Given the description of an element on the screen output the (x, y) to click on. 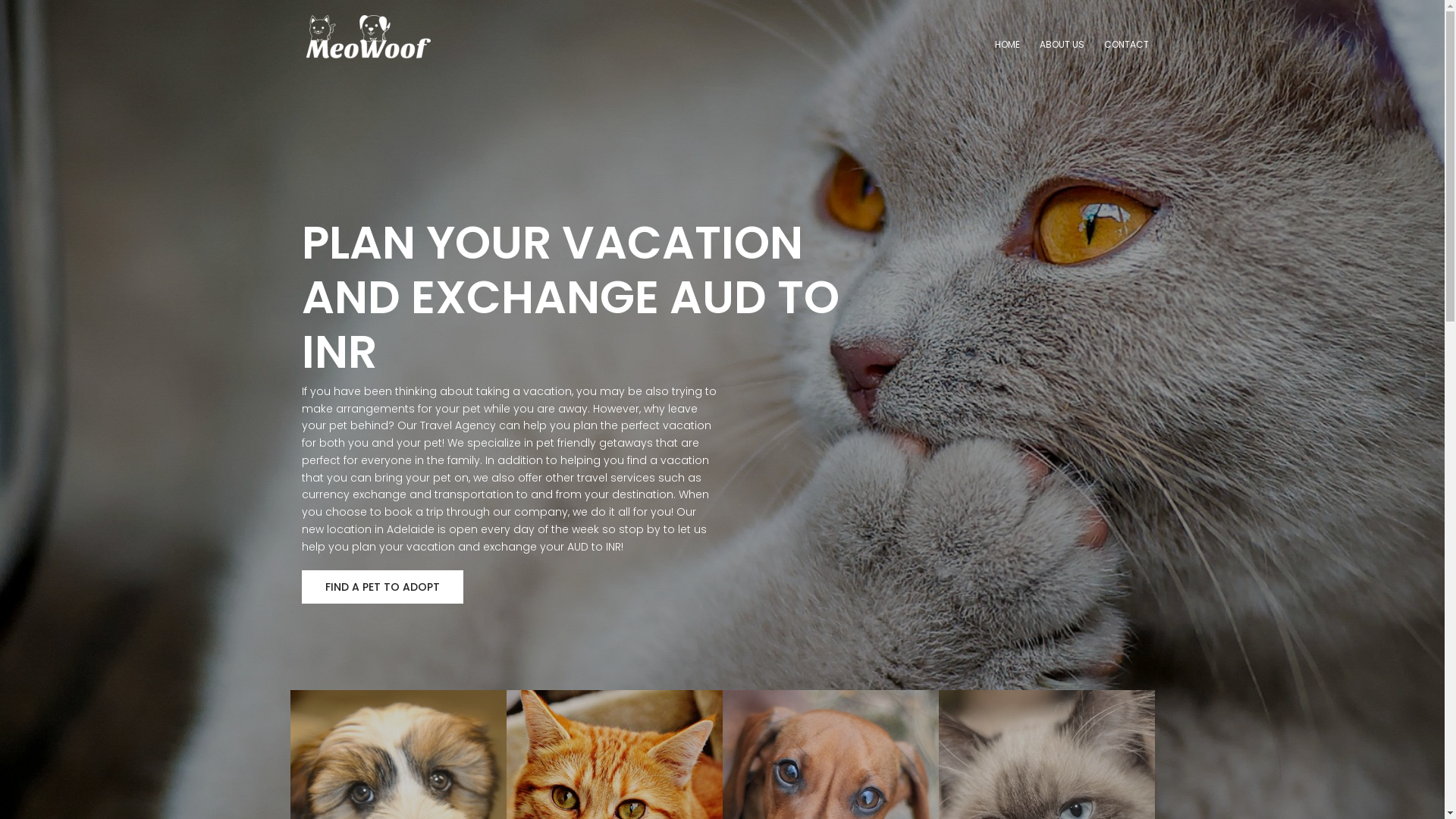
ABOUT US Element type: text (1060, 44)
HOME Element type: text (1007, 44)
FIND A PET TO ADOPT Element type: text (382, 586)
CONTACT Element type: text (1126, 44)
